Given the description of an element on the screen output the (x, y) to click on. 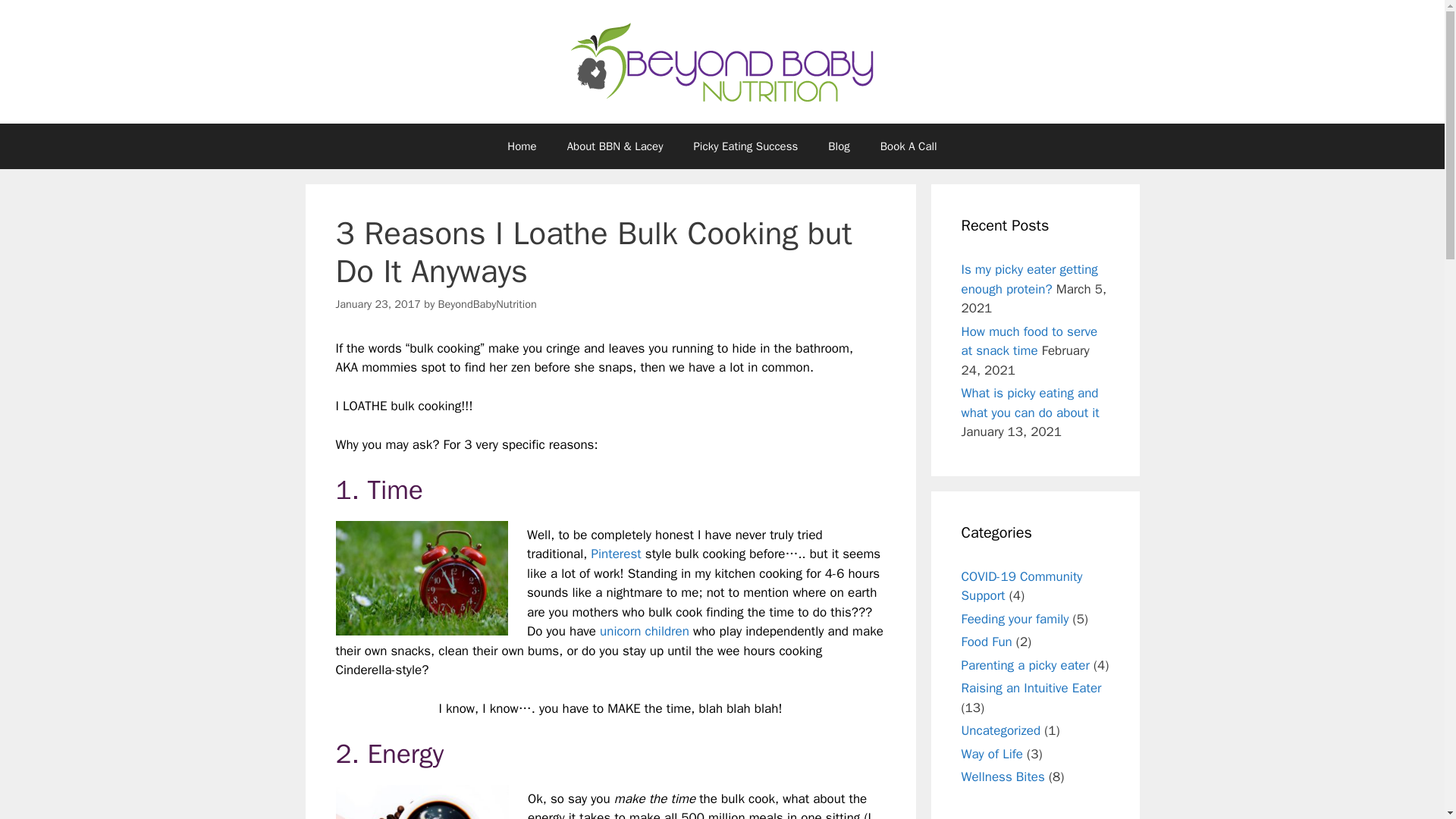
How much food to serve at snack time (1028, 340)
Way of Life (991, 754)
Picky Eating Success (745, 145)
Feeding your family (1014, 618)
Blog (838, 145)
Is my picky eater getting enough protein? (1028, 279)
Parenting a picky eater (1024, 664)
Wellness Bites (1002, 776)
What is picky eating and what you can do about it (1029, 402)
Home (521, 145)
